Given the description of an element on the screen output the (x, y) to click on. 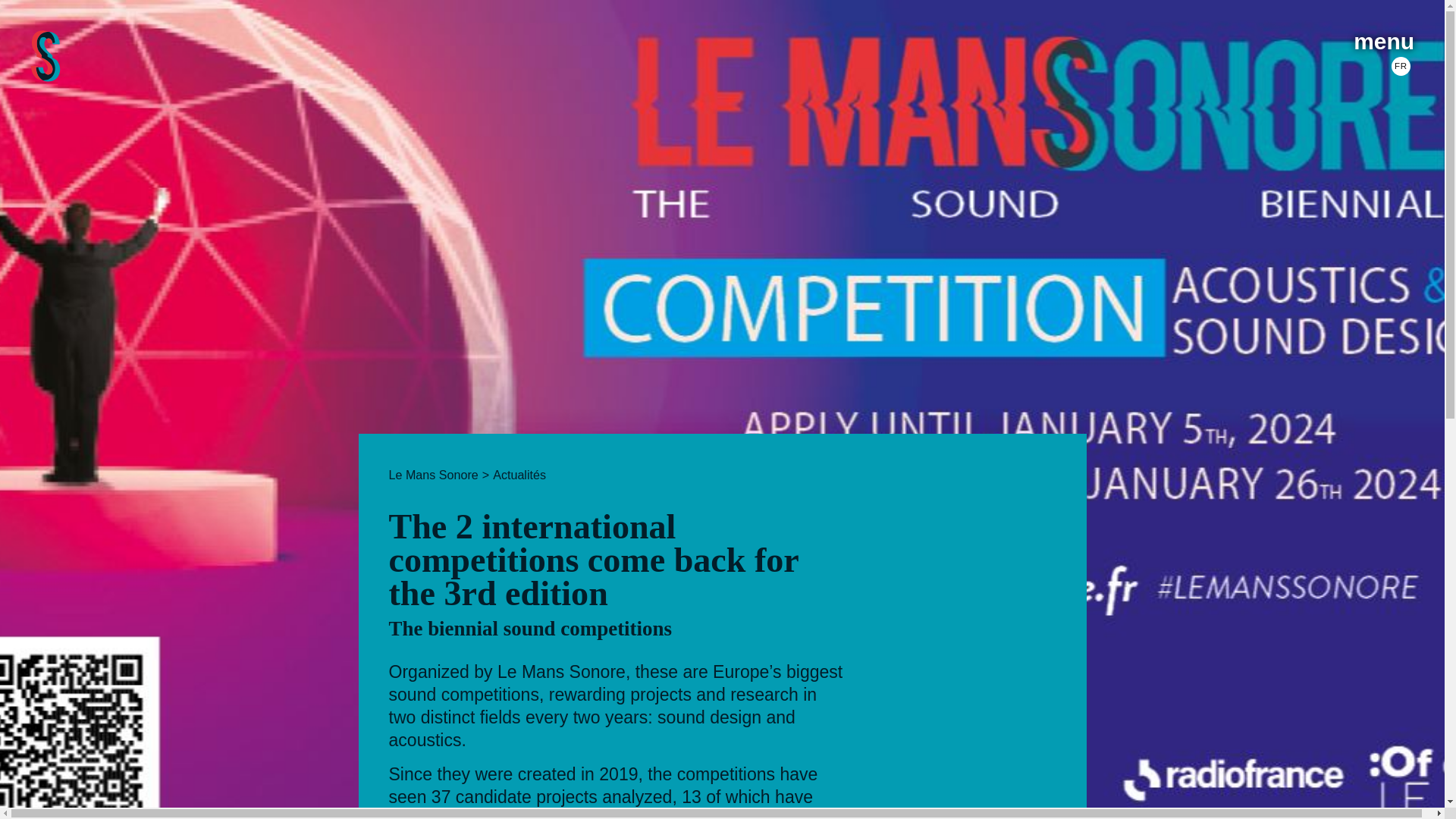
Le Mans Sonore (432, 475)
